Given the description of an element on the screen output the (x, y) to click on. 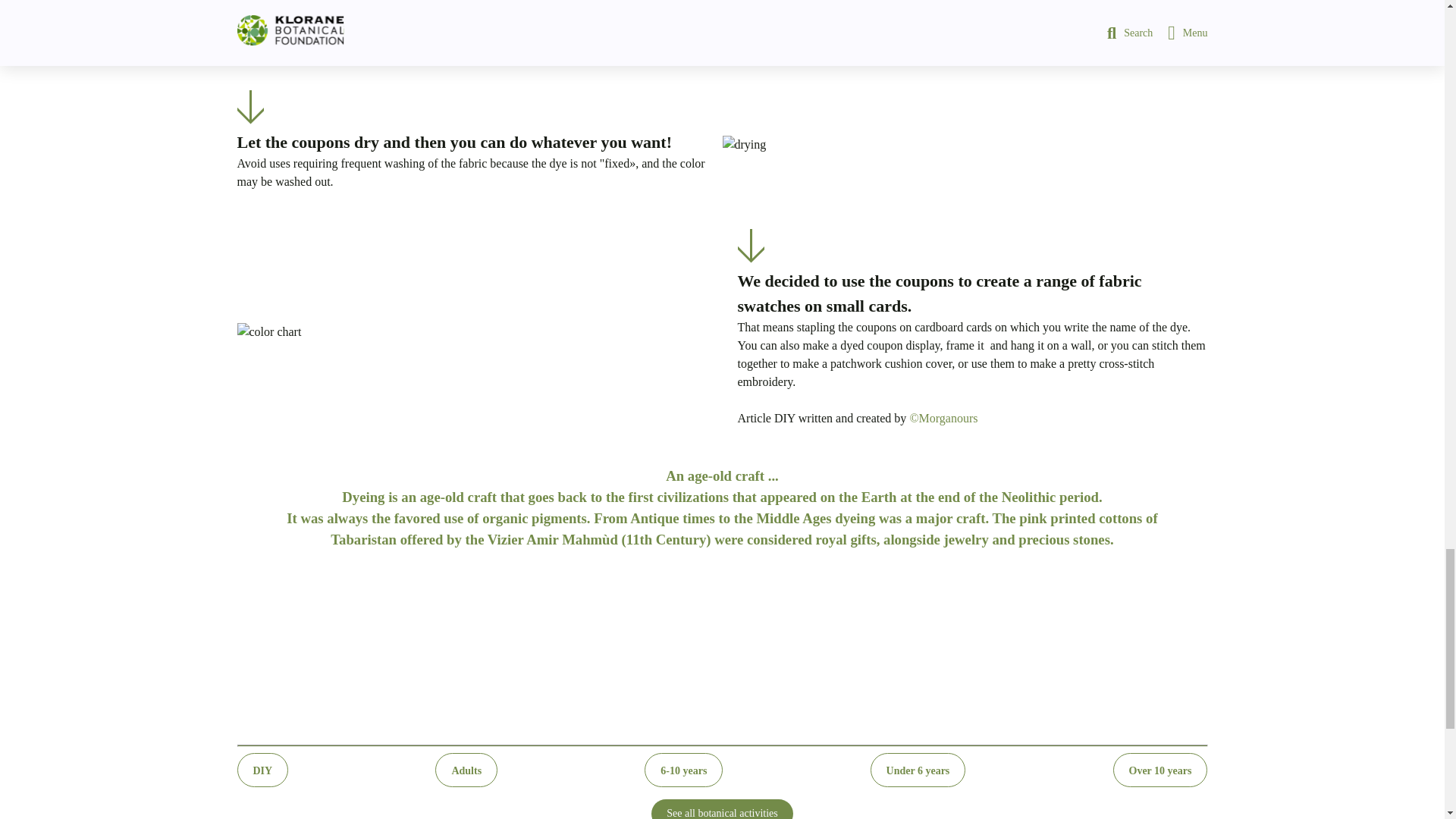
Adults (466, 769)
Under 6 years (918, 769)
6-10 years (683, 769)
Over 10 years (1160, 769)
See all botanical activities (721, 809)
DIY (261, 769)
